Given the description of an element on the screen output the (x, y) to click on. 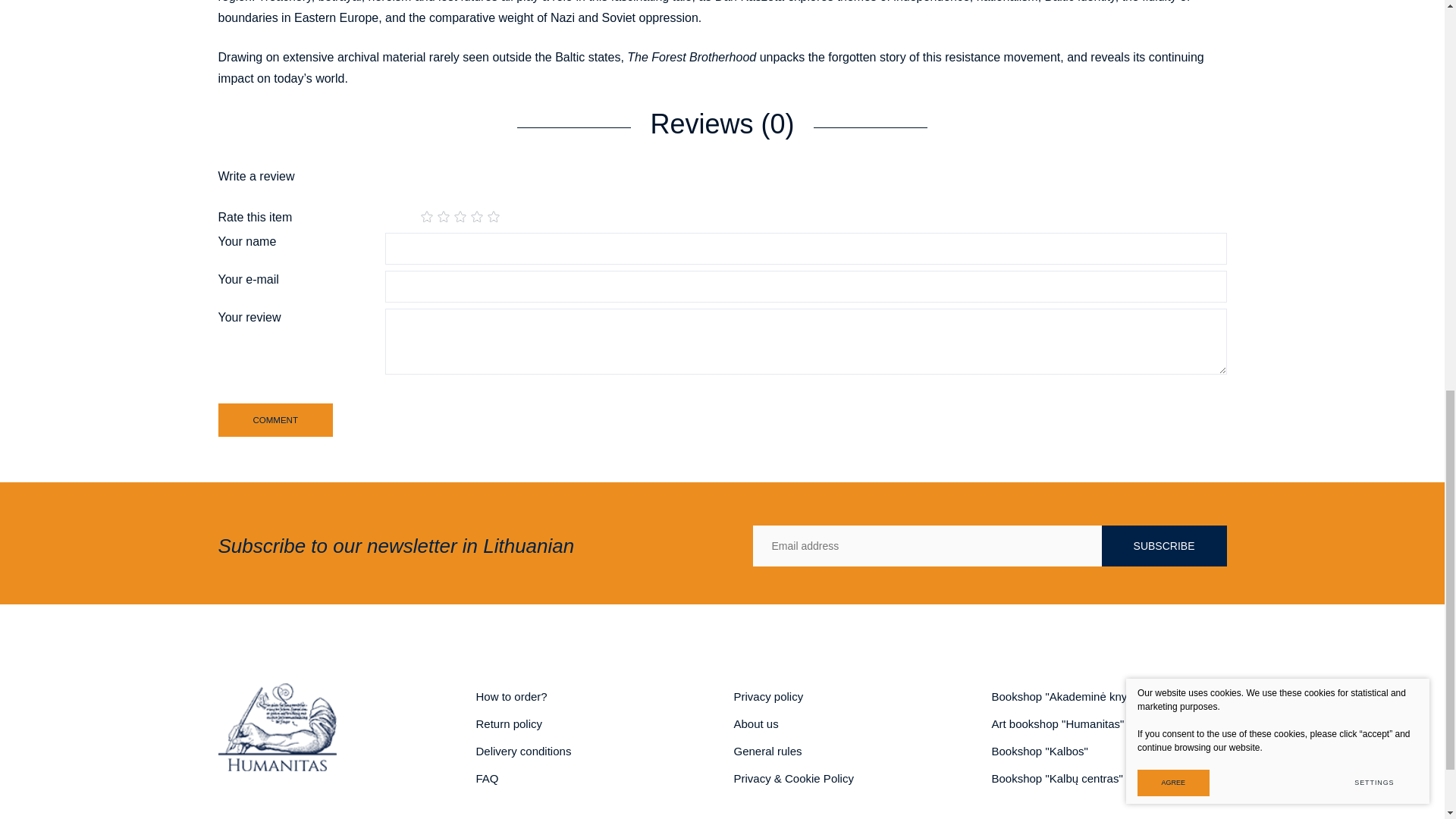
Email address (926, 545)
